Given the description of an element on the screen output the (x, y) to click on. 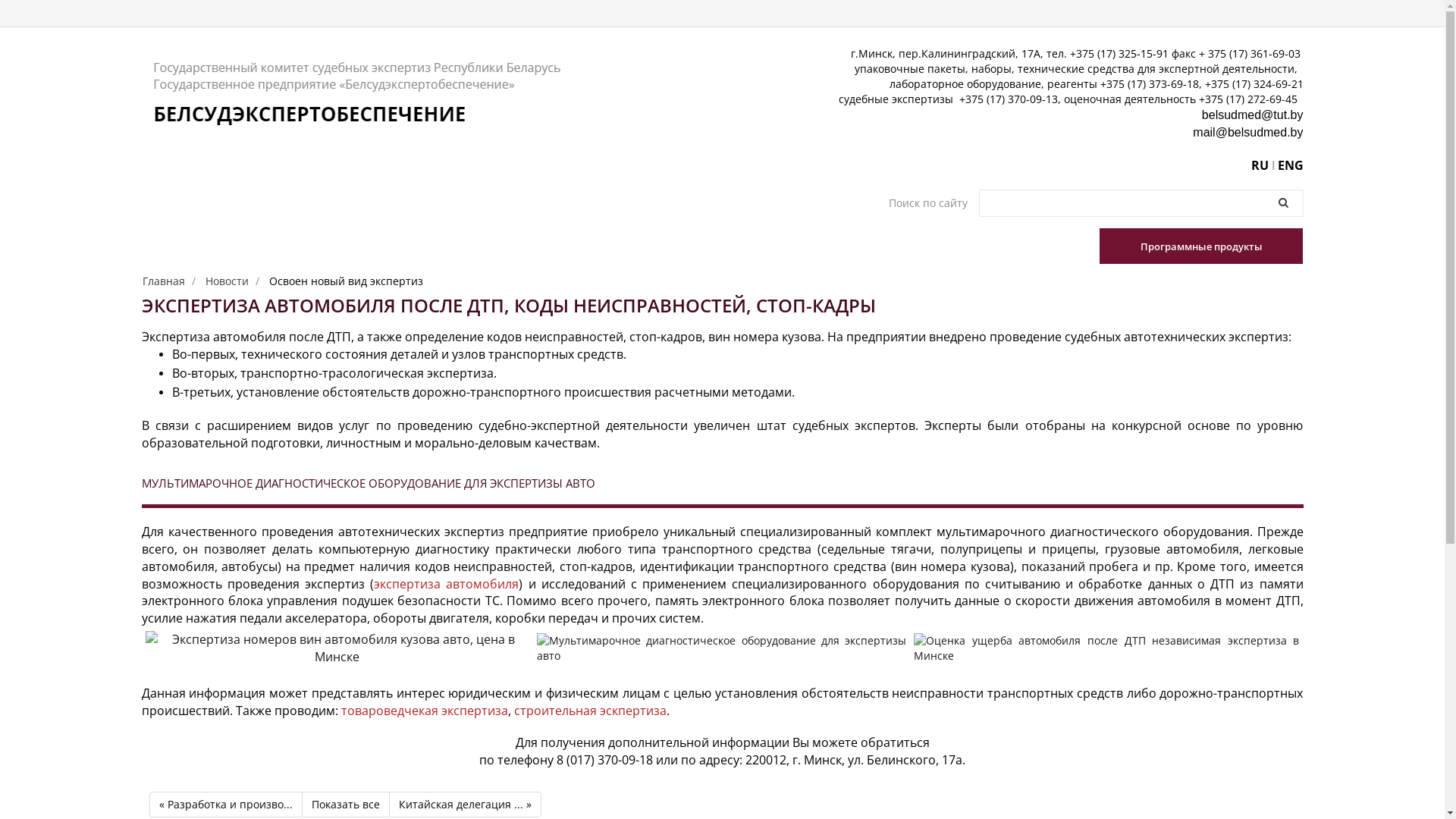
mail@belsudmed.by Element type: text (1247, 131)
belsudmed@tut.by Element type: text (1252, 114)
ENG Element type: text (1289, 164)
